Given the description of an element on the screen output the (x, y) to click on. 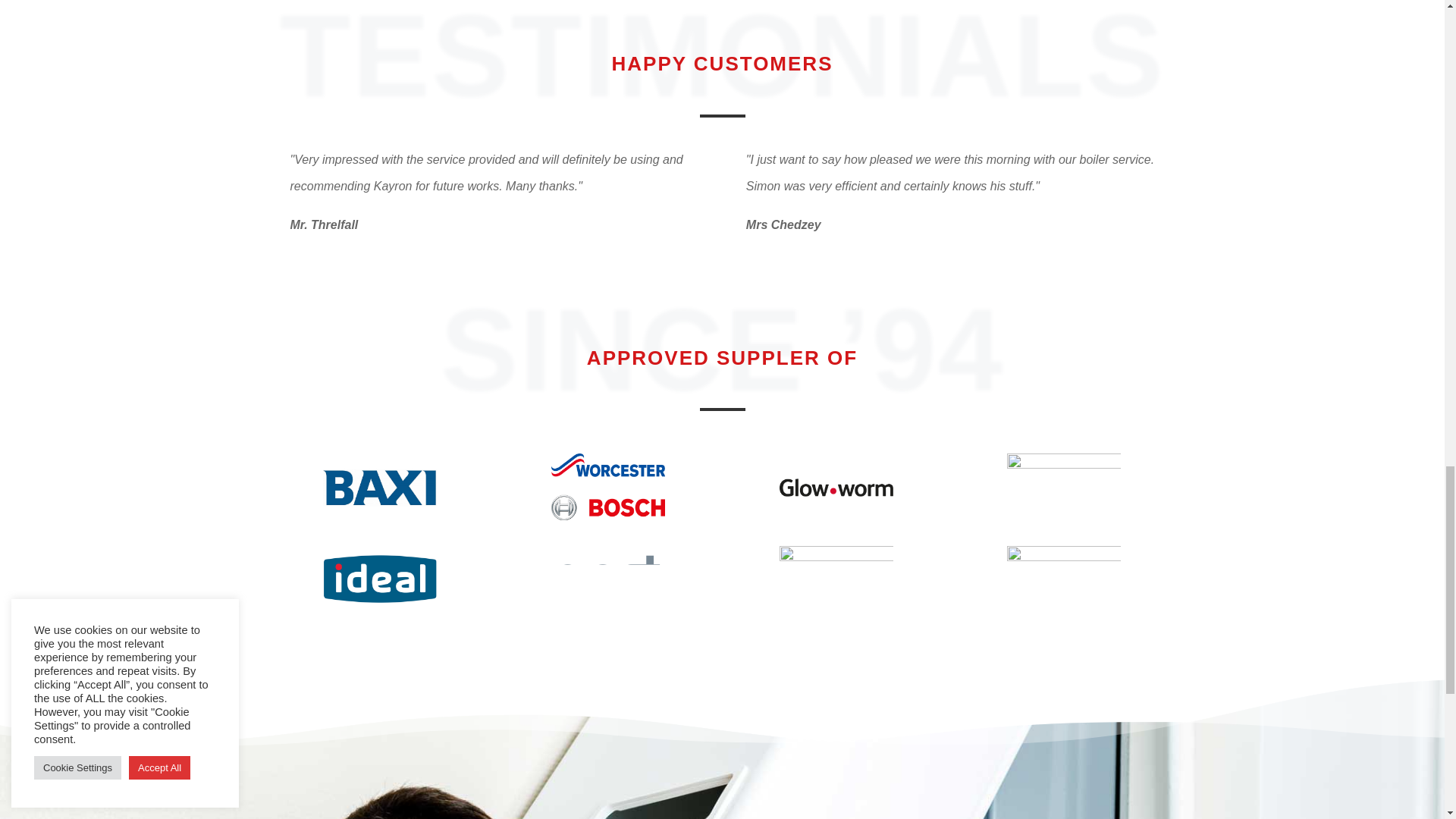
Nest (608, 580)
Viessmann (1064, 580)
Baxi (379, 487)
Vaillant (835, 580)
Glow Worm (835, 487)
Hive (1064, 487)
Bosh (608, 487)
Ideal (379, 580)
